Given the description of an element on the screen output the (x, y) to click on. 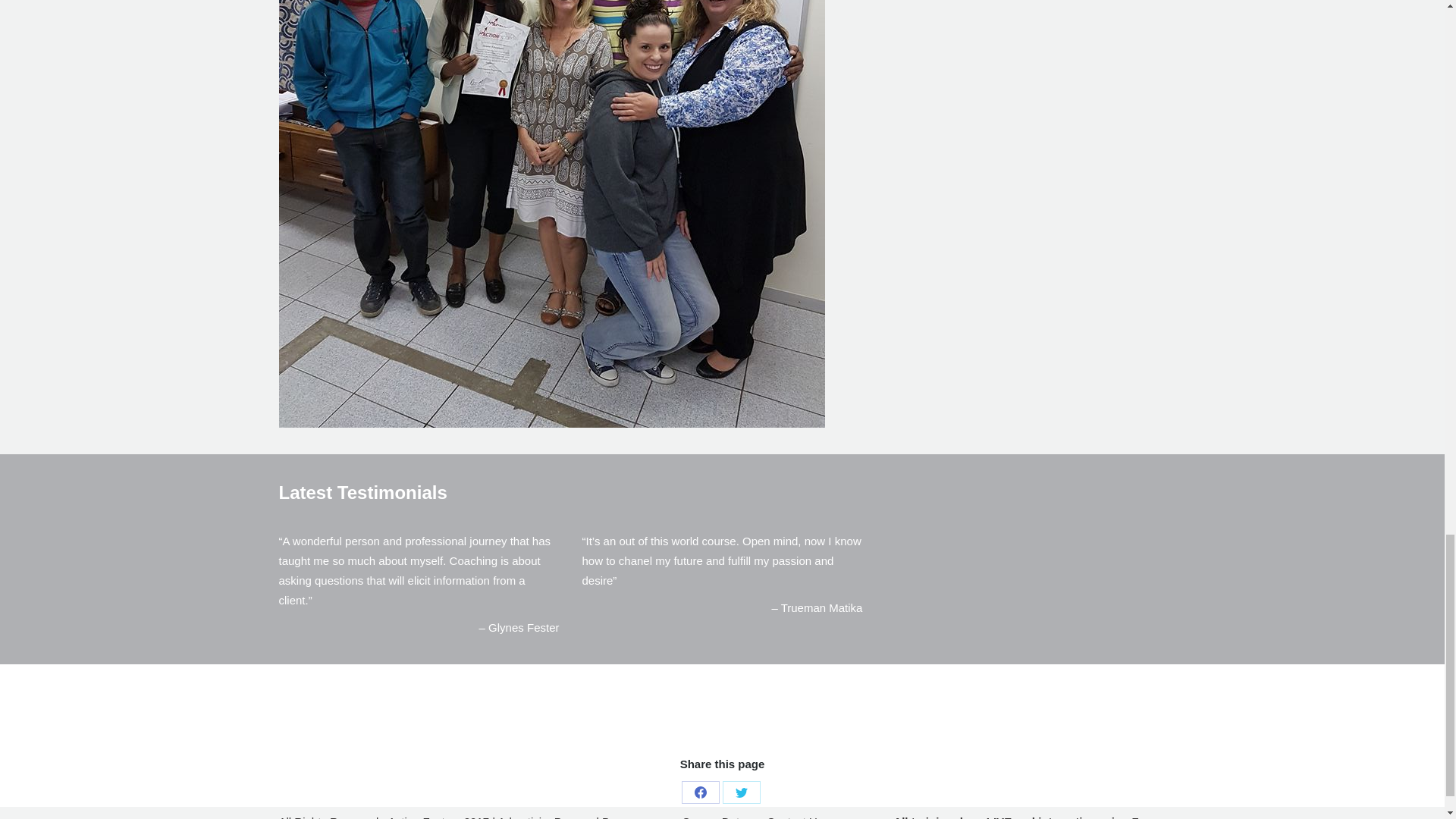
Share on Facebook (700, 792)
Course Dates (716, 816)
Twitter (741, 792)
Share on Twitter (741, 792)
Advertising (525, 816)
Community newspaper advertising rates and prices (525, 816)
Facebook (700, 792)
Contact Us (794, 816)
